Given the description of an element on the screen output the (x, y) to click on. 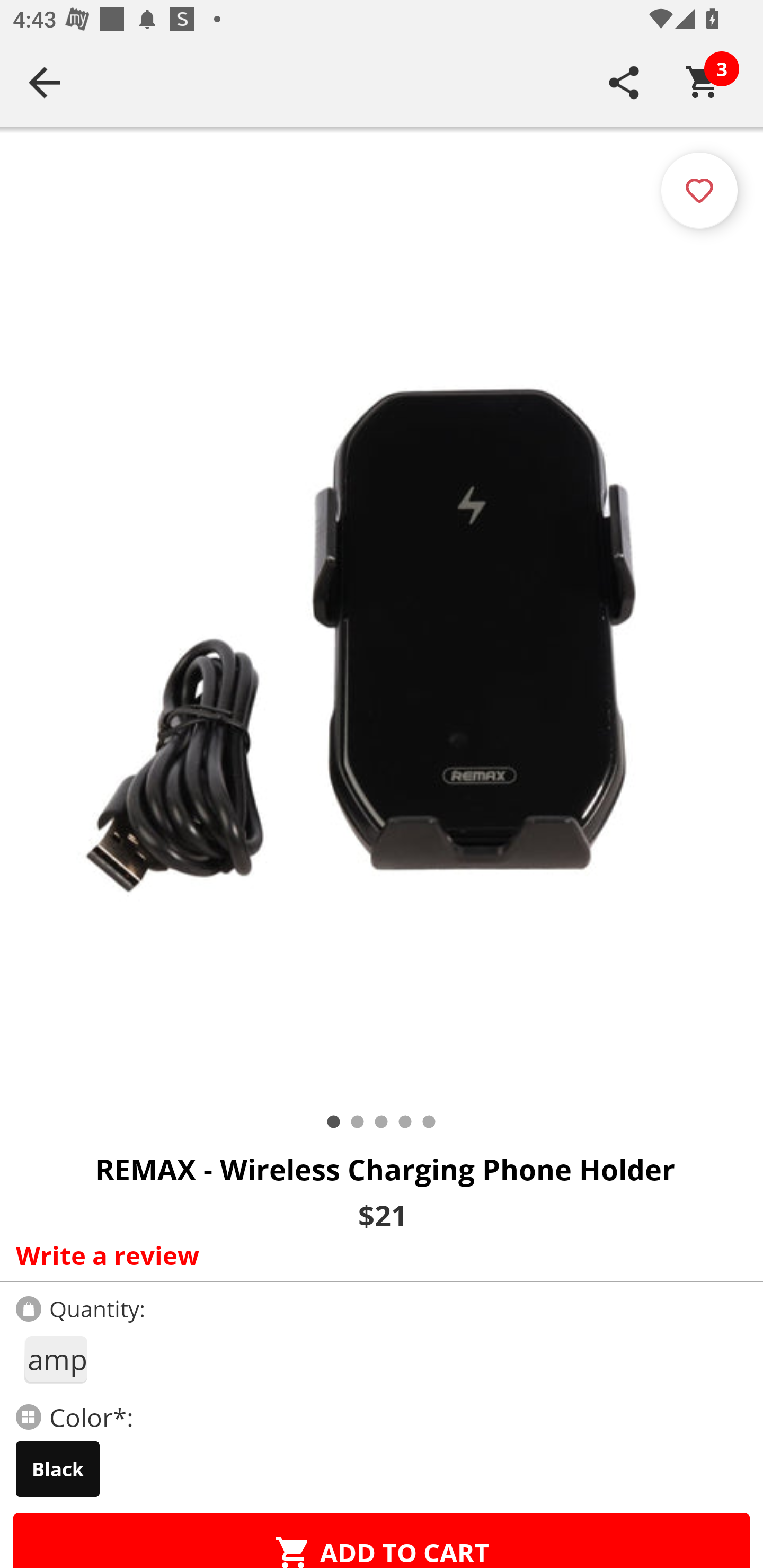
Navigate up (44, 82)
SHARE (623, 82)
Cart (703, 81)
Write a review (377, 1255)
1lamp (55, 1358)
Black (57, 1468)
ADD TO CART (381, 1540)
